Given the description of an element on the screen output the (x, y) to click on. 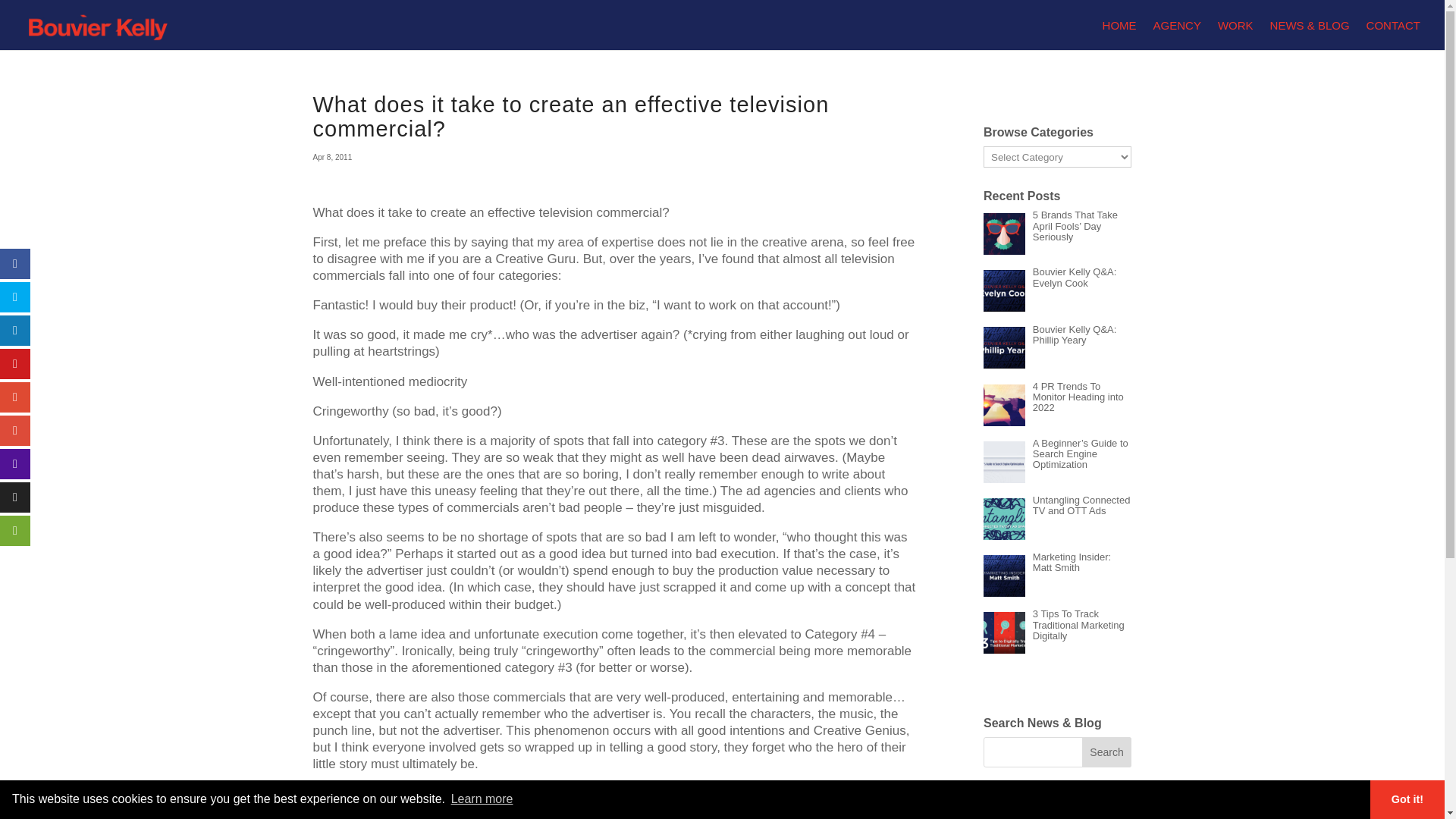
Marketing Insider: Matt Smith (1071, 562)
HOME (1119, 33)
Search (1106, 752)
Search (1106, 752)
4 PR Trends To Monitor Heading into 2022 (1078, 397)
AGENCY (1177, 33)
WORK (1235, 33)
Untangling Connected TV and OTT Ads (1081, 505)
3 Tips To Track Traditional Marketing Digitally (1078, 624)
CONTACT (1394, 33)
Learn more (481, 798)
